Given the description of an element on the screen output the (x, y) to click on. 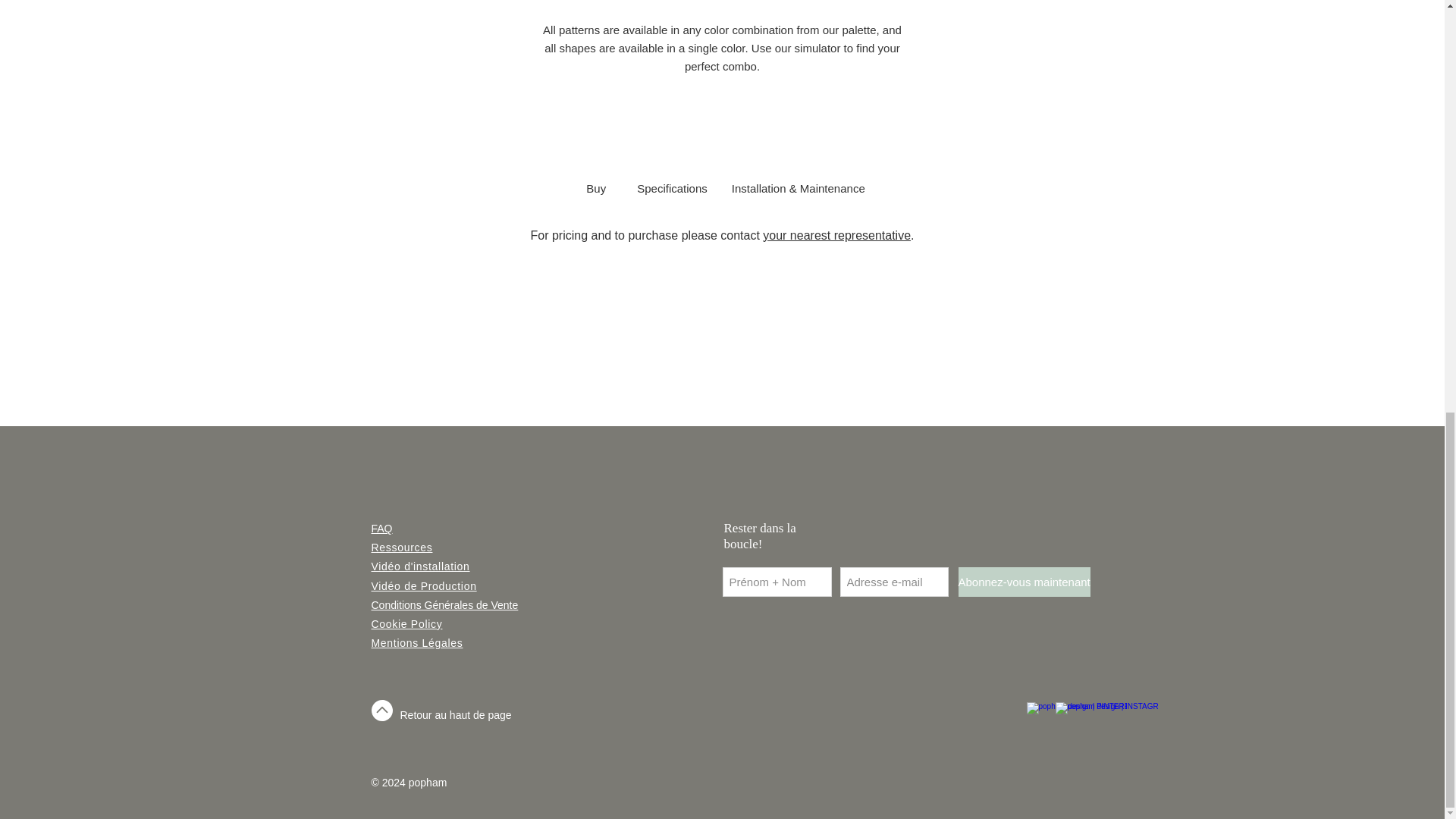
Ressources (401, 547)
Cookie Policy (406, 623)
FAQ (382, 528)
your nearest representative (836, 235)
